Given the description of an element on the screen output the (x, y) to click on. 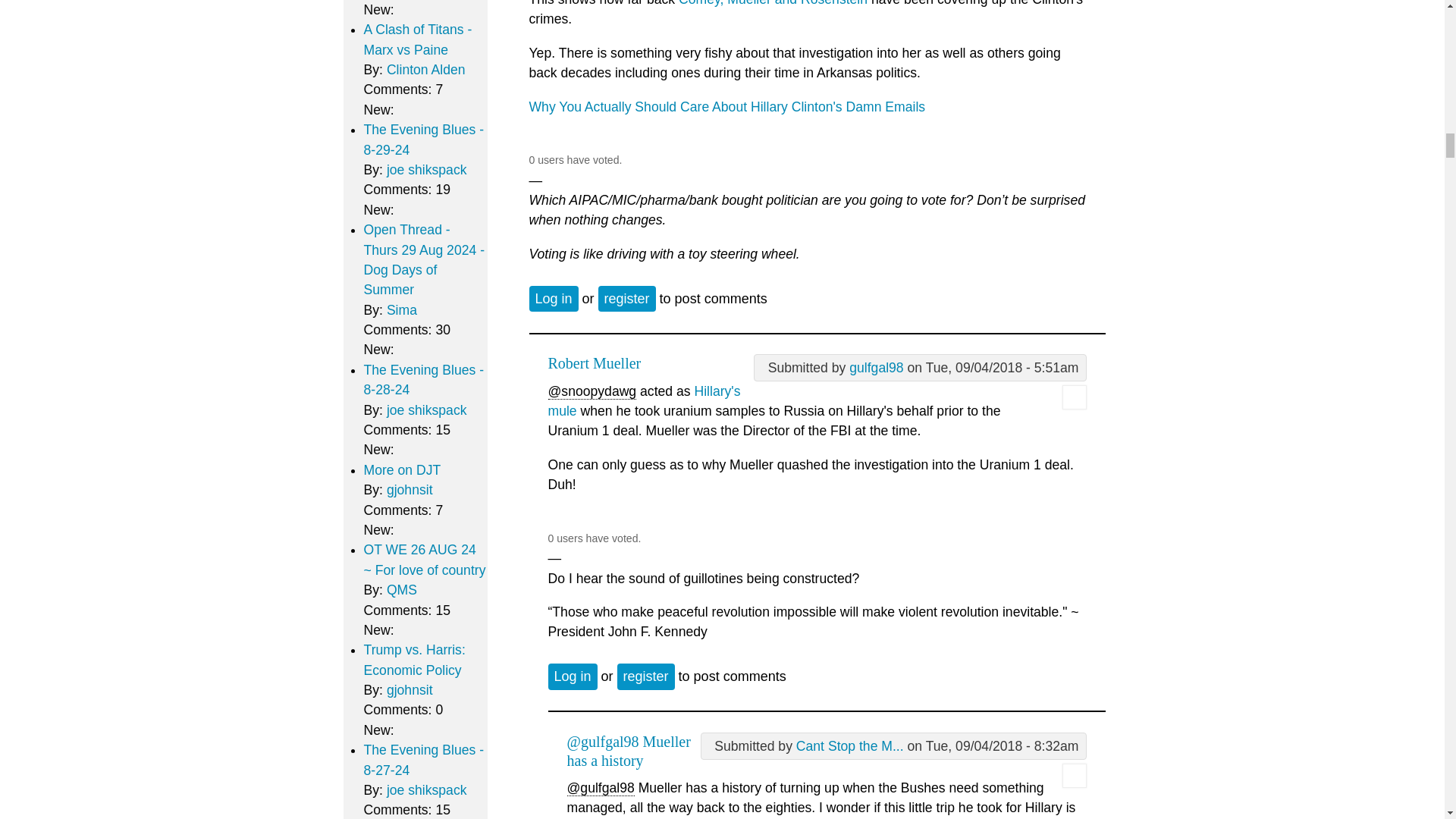
Comey, Mueller and Rosenstein (774, 3)
View user profile. (1073, 404)
Log in (553, 298)
View user profile. (875, 367)
gulfgal98's picture (1073, 396)
View user profile. (850, 745)
register (627, 298)
